Given the description of an element on the screen output the (x, y) to click on. 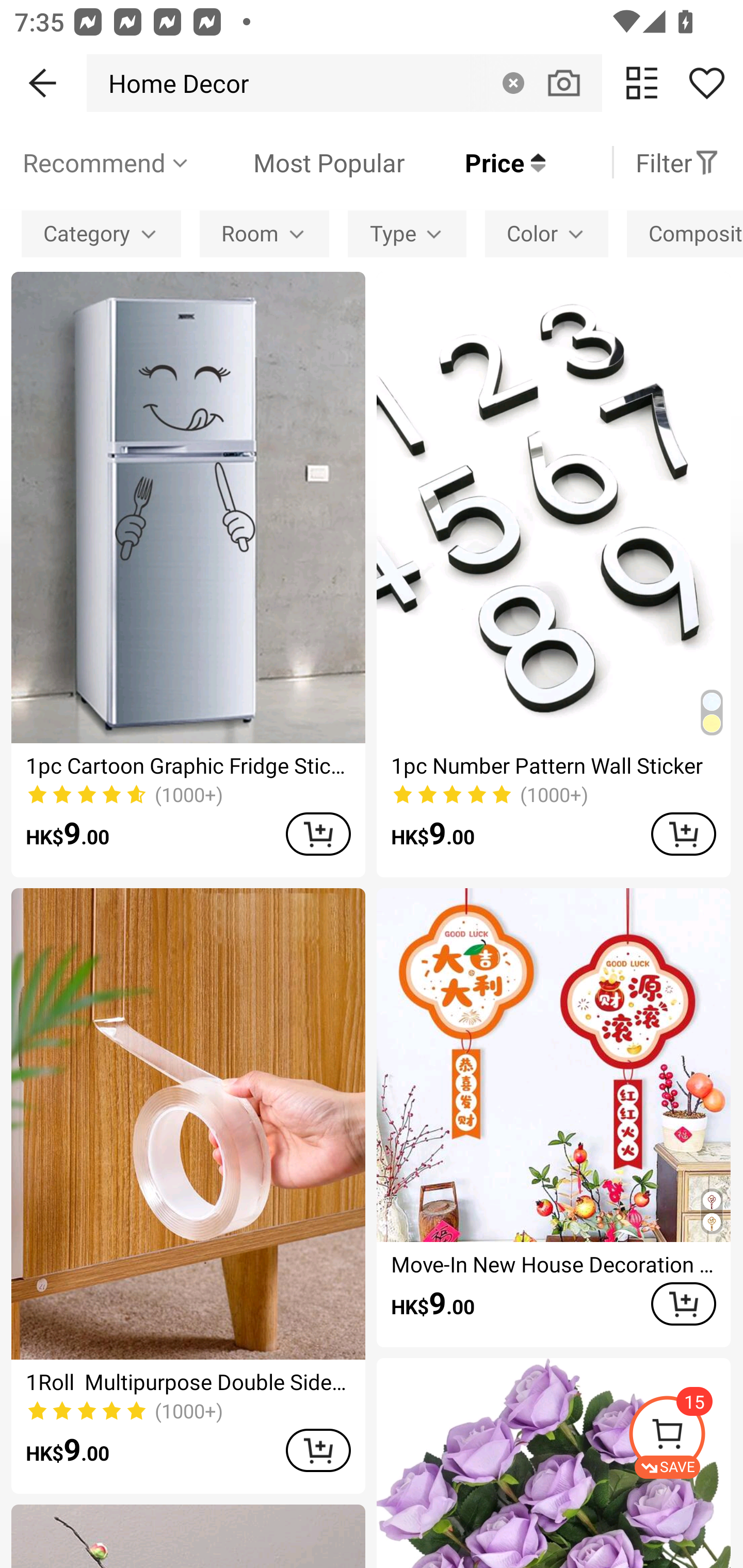
Home Decor Clear (343, 82)
Home Decor (173, 82)
Clear (513, 82)
change view (641, 82)
Share (706, 82)
Recommend (106, 162)
Most Popular (297, 162)
Price (474, 162)
Filter (677, 162)
Category (101, 233)
Room (264, 233)
Type (406, 233)
Color (546, 233)
Composition (685, 233)
ADD TO CART (318, 834)
ADD TO CART (683, 834)
ADD TO CART (683, 1303)
SAVE (685, 1436)
ADD TO CART (318, 1450)
